Given the description of an element on the screen output the (x, y) to click on. 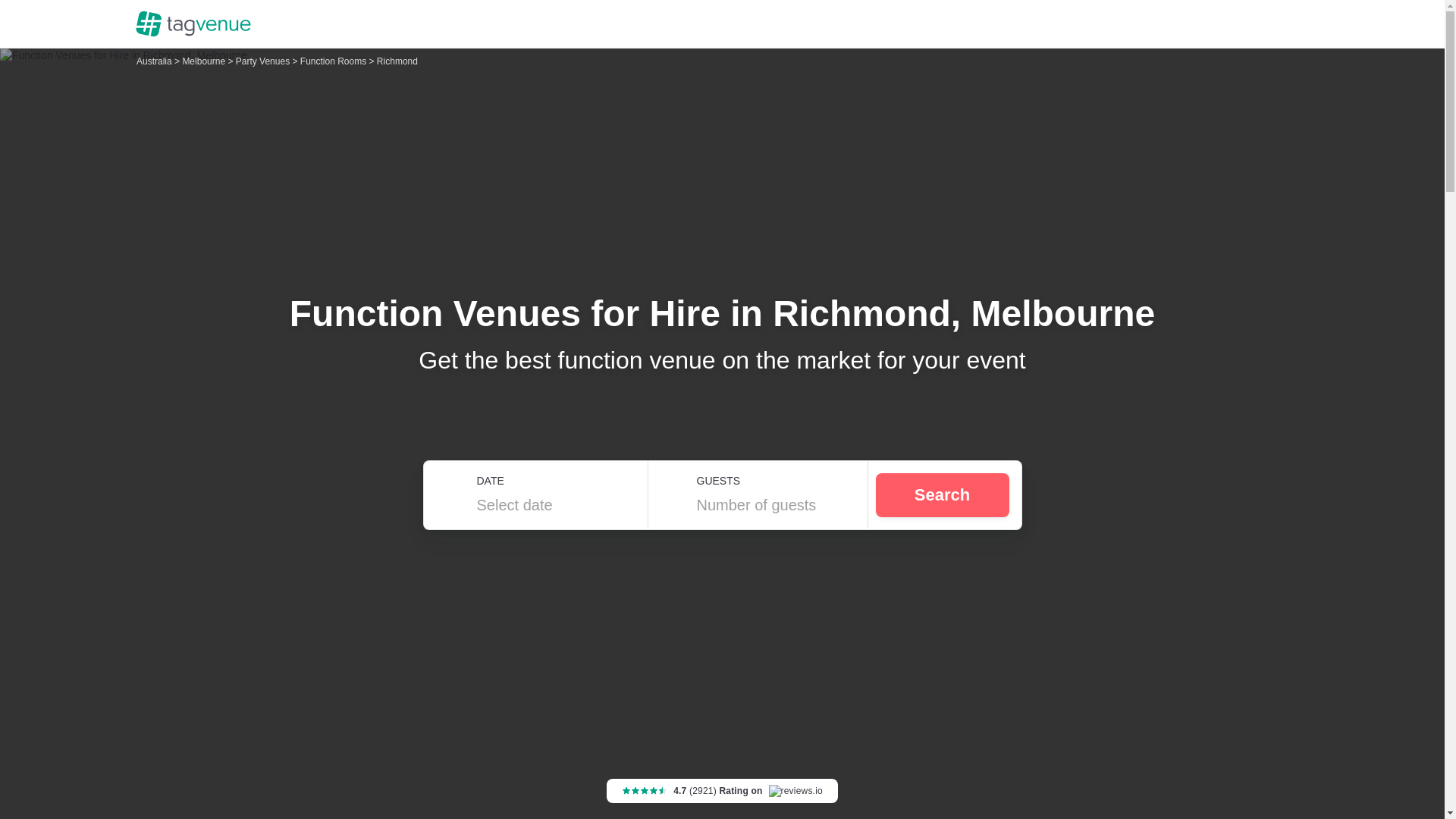
Function Rooms (334, 61)
Party Venues (263, 61)
Australia (155, 61)
Melbourne (204, 61)
Search (942, 494)
